Given the description of an element on the screen output the (x, y) to click on. 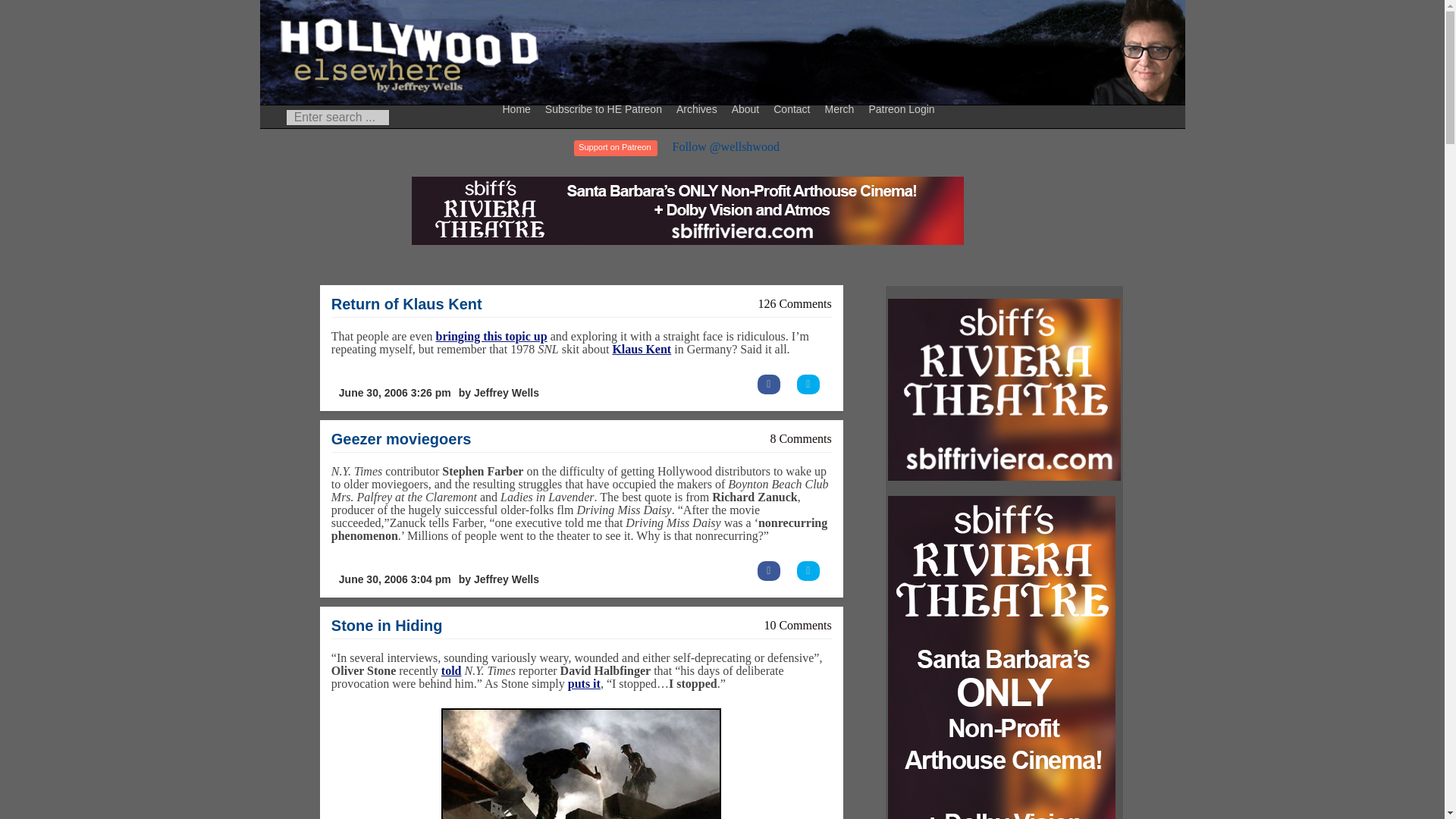
Archives (698, 108)
Support on Patreon (614, 148)
Permanent Link to Return of Klaus Kent (406, 303)
June 30, 2006 3:04 pm (394, 579)
by Jeffrey Wells (498, 579)
told (451, 670)
Klaus Kent (641, 349)
Permanent Link to Geezer moviegoers (401, 438)
bringing this topic up (491, 336)
About (747, 108)
126 Comments (794, 303)
8 Comments (800, 438)
by Jeffrey Wells (498, 392)
puts it (583, 683)
Stone in Hiding (386, 625)
